Given the description of an element on the screen output the (x, y) to click on. 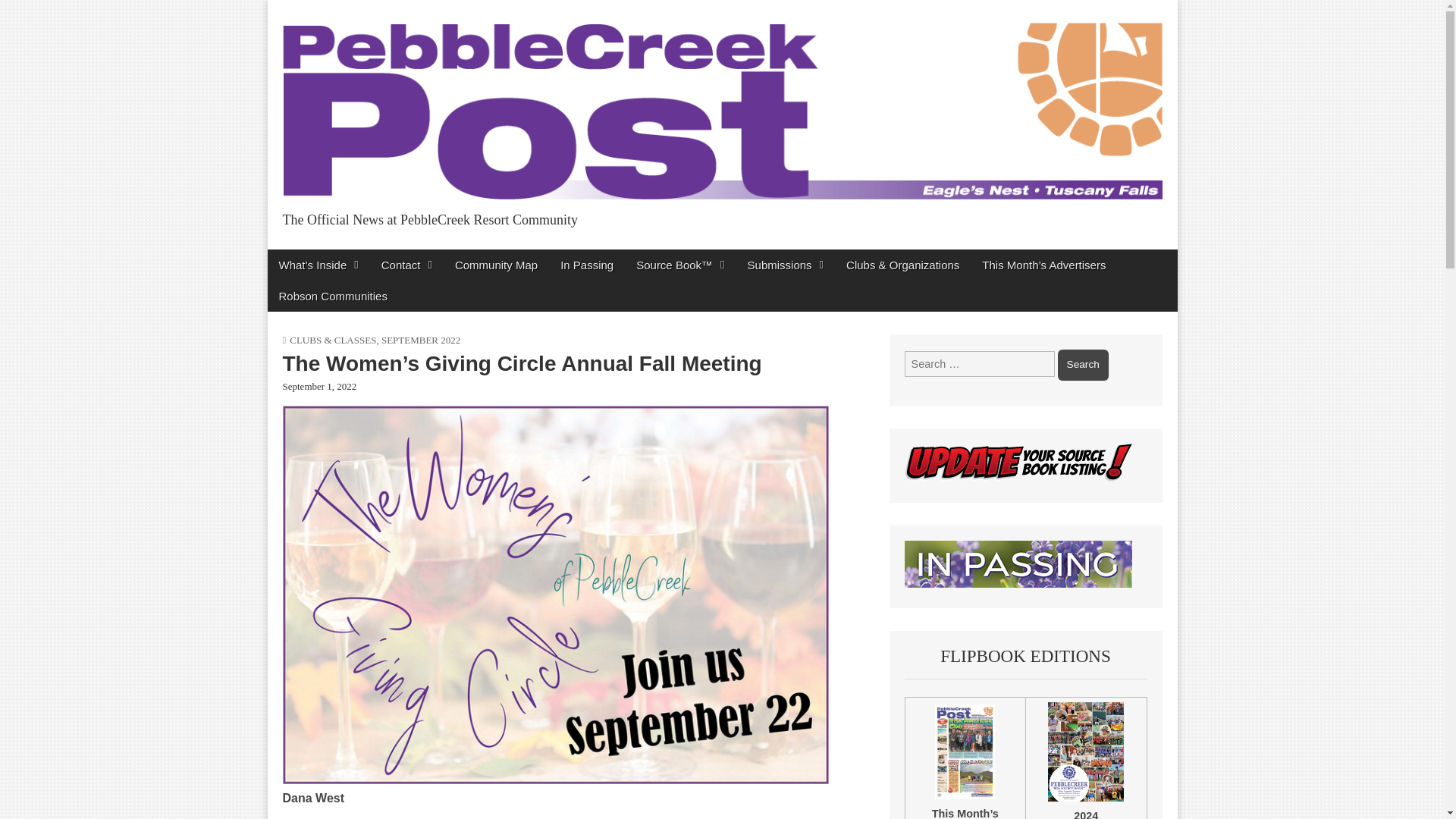
PebbleCreek Post (411, 253)
SEPTEMBER 2022 (420, 339)
In Passing (586, 264)
Contact (406, 264)
Robson Communities (331, 296)
Submissions (785, 264)
Search (1083, 364)
